Given the description of an element on the screen output the (x, y) to click on. 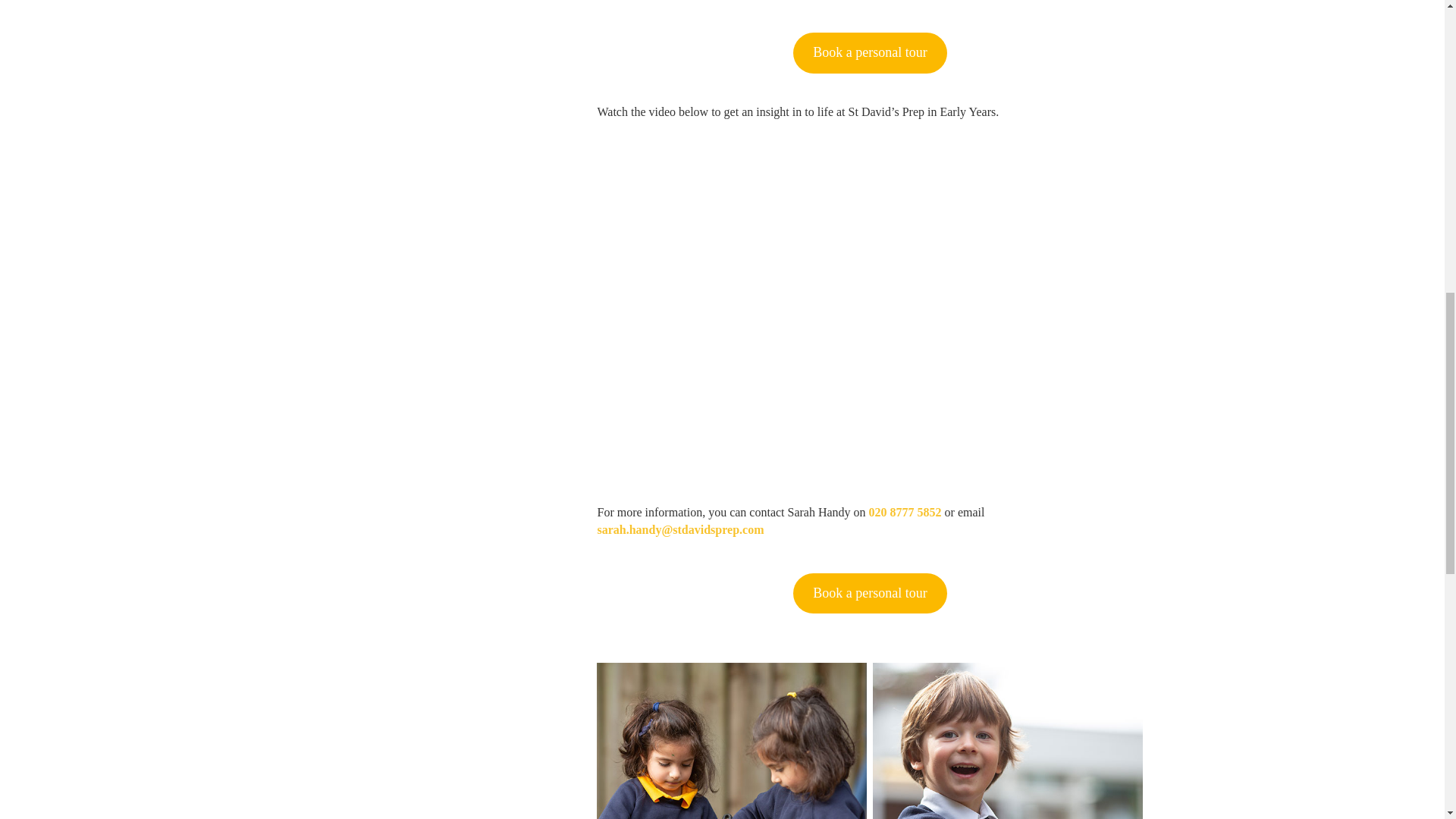
Book a personal tour (869, 52)
Book a personal tour (869, 593)
020 8777 5852 (905, 512)
